Given the description of an element on the screen output the (x, y) to click on. 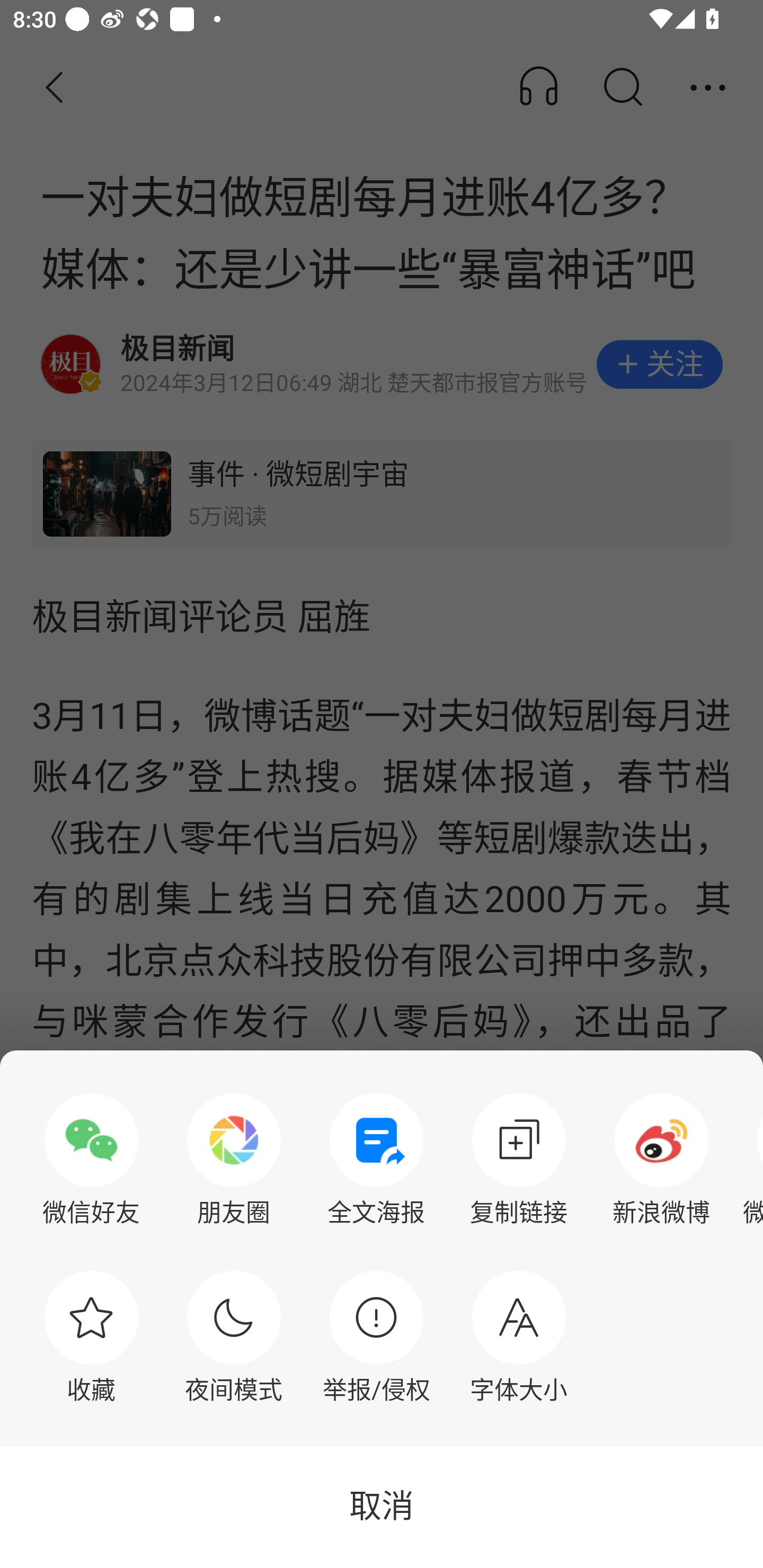
微信好友 (90, 1159)
朋友圈 (233, 1159)
全文海报 (376, 1159)
 复制链接 复制链接 (518, 1159)
新浪微博 (661, 1159)
 收藏 收藏 (90, 1337)
 夜间模式 夜间模式 (233, 1337)
 举报/侵权 举报/侵权 (376, 1337)
 字体大小 字体大小 (518, 1337)
取消 (381, 1506)
